Given the description of an element on the screen output the (x, y) to click on. 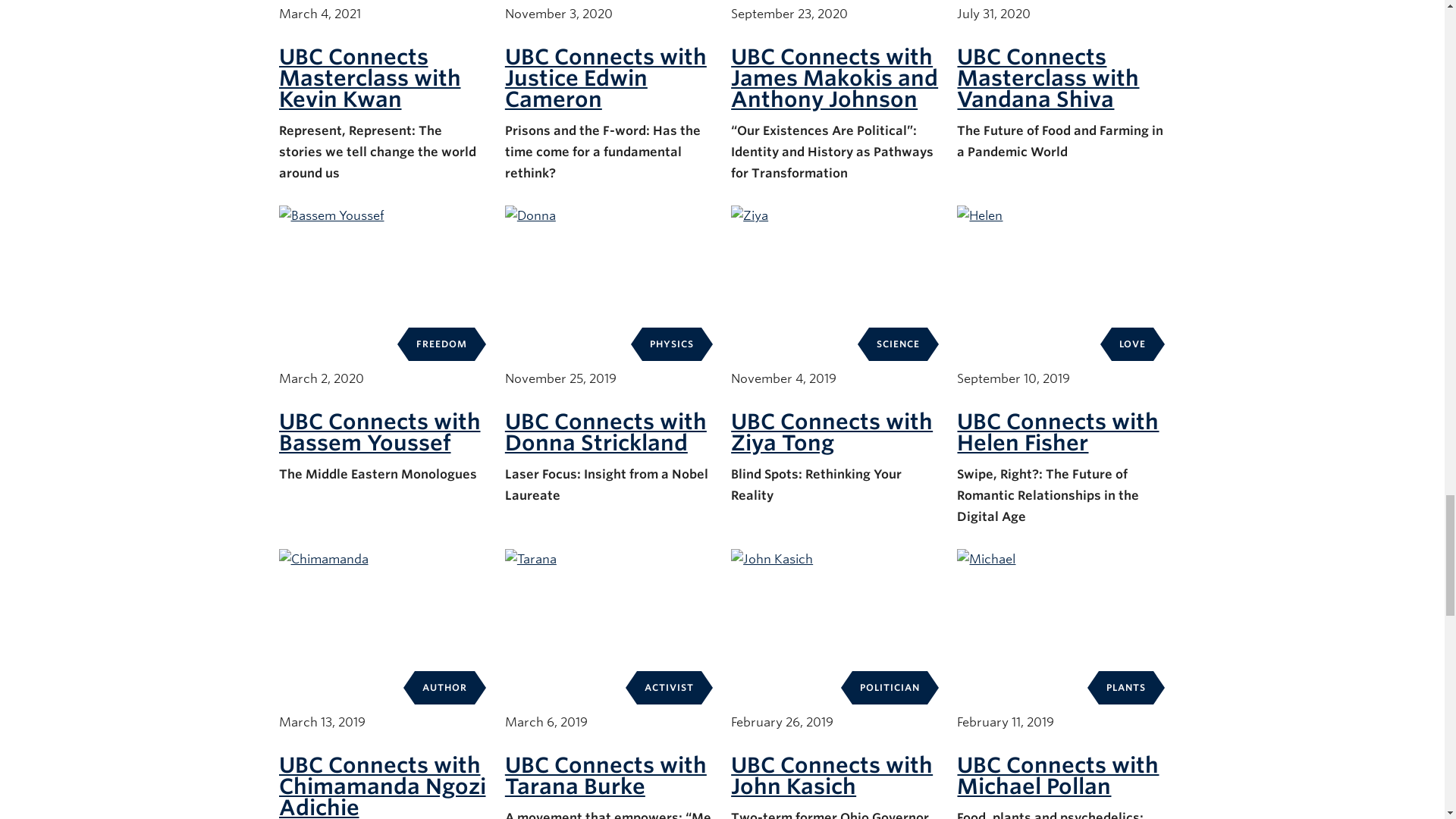
UBC Connects with Bassem Youssef (379, 431)
UBC Connects with James Makokis and Anthony Johnson (833, 78)
UBC Connects Masterclass with Kevin Kwan (370, 78)
UBC Connects Masterclass with Vandana Shiva (1047, 78)
UBC Connects with Justice Edwin Cameron (605, 78)
